Given the description of an element on the screen output the (x, y) to click on. 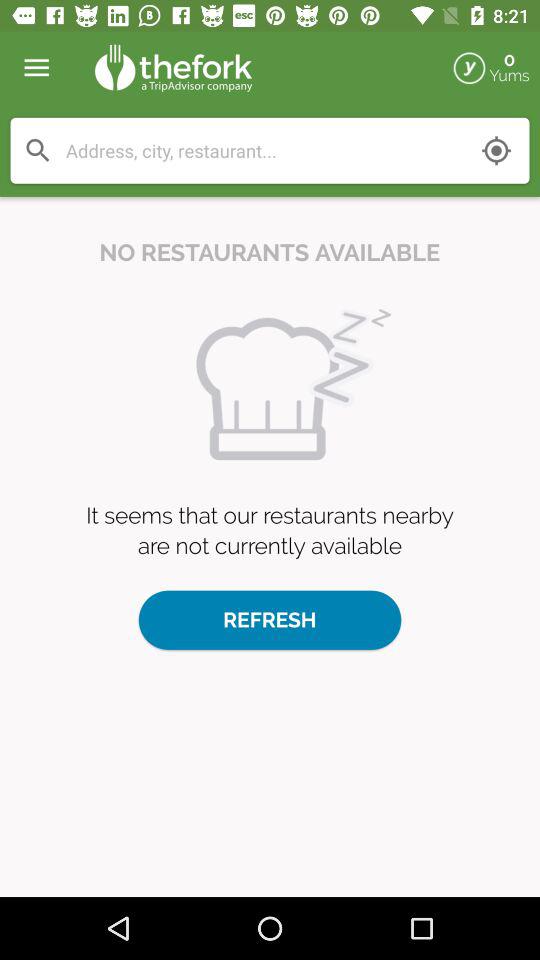
find a restaurant (264, 150)
